Given the description of an element on the screen output the (x, y) to click on. 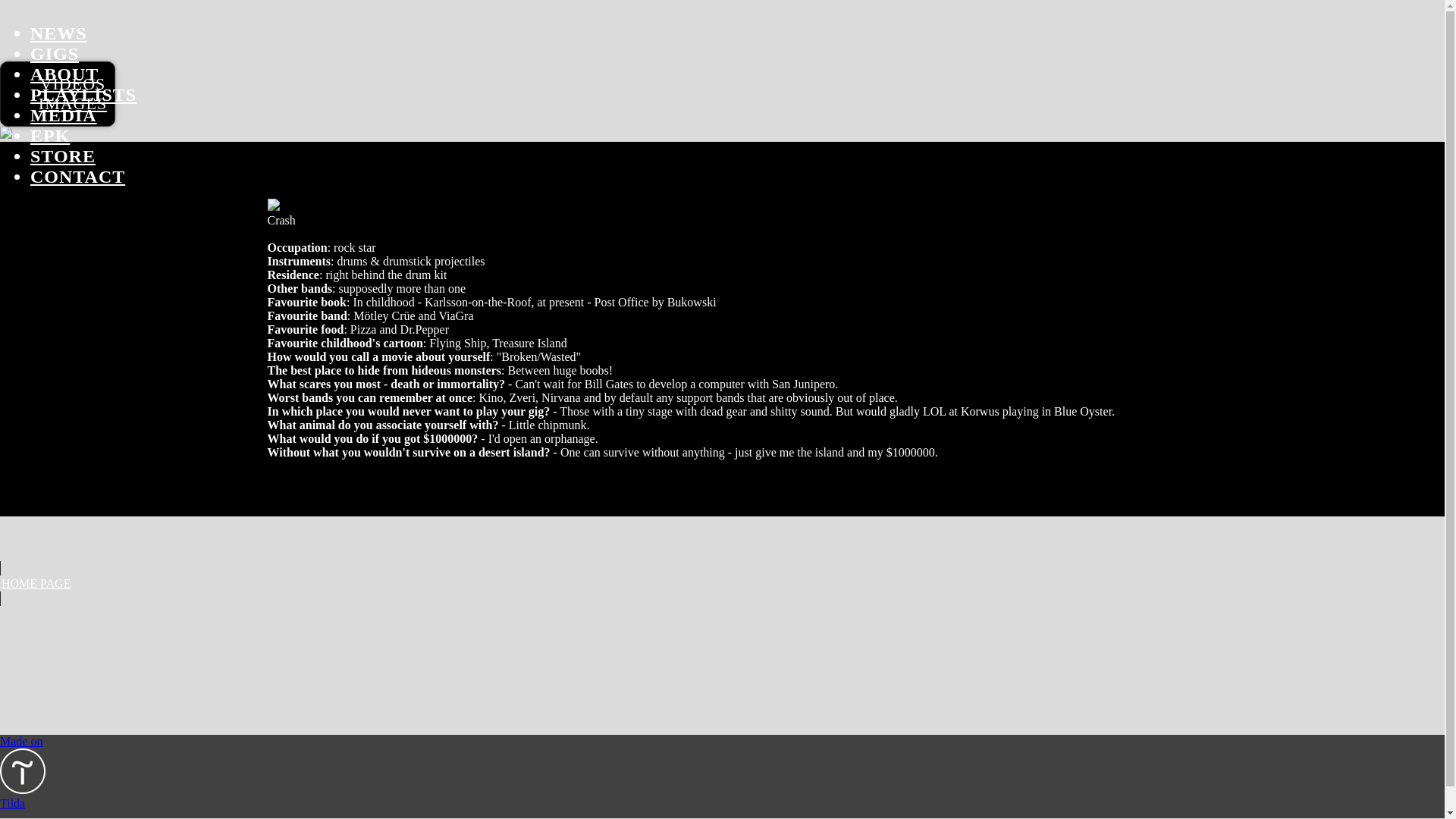
NEWS Element type: text (58, 33)
Made on
Tilda Element type: text (722, 772)
PLAYLISTS Element type: text (83, 94)
GIGS Element type: text (54, 53)
MEDIA Element type: text (63, 115)
IMAGES Element type: text (72, 103)
HOME PAGE Element type: text (722, 583)
VIDEOS Element type: text (73, 83)
EPK Element type: text (49, 135)
CONTACT Element type: text (77, 176)
STORE Element type: text (62, 156)
ABOUT Element type: text (64, 74)
